Given the description of an element on the screen output the (x, y) to click on. 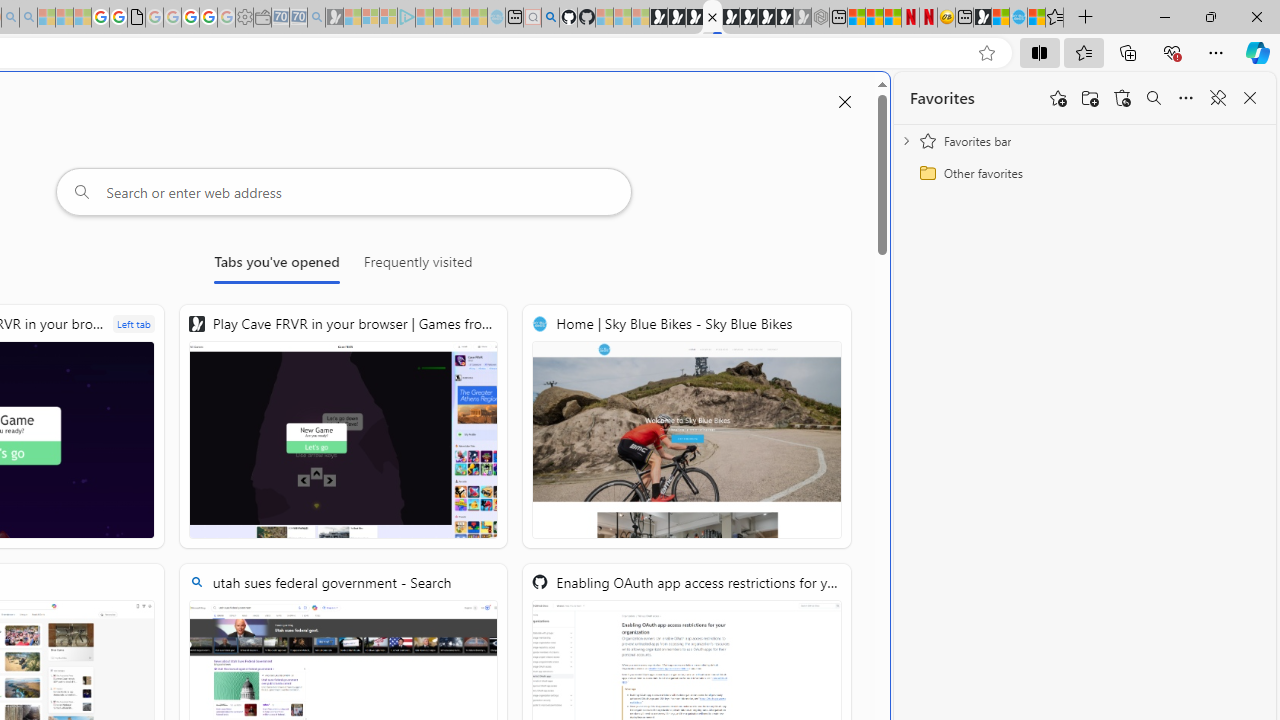
Restore deleted favorites (1122, 98)
Add this page to favorites (1058, 98)
Play Cave FRVR in your browser | Games from Microsoft Start (694, 17)
